Given the description of an element on the screen output the (x, y) to click on. 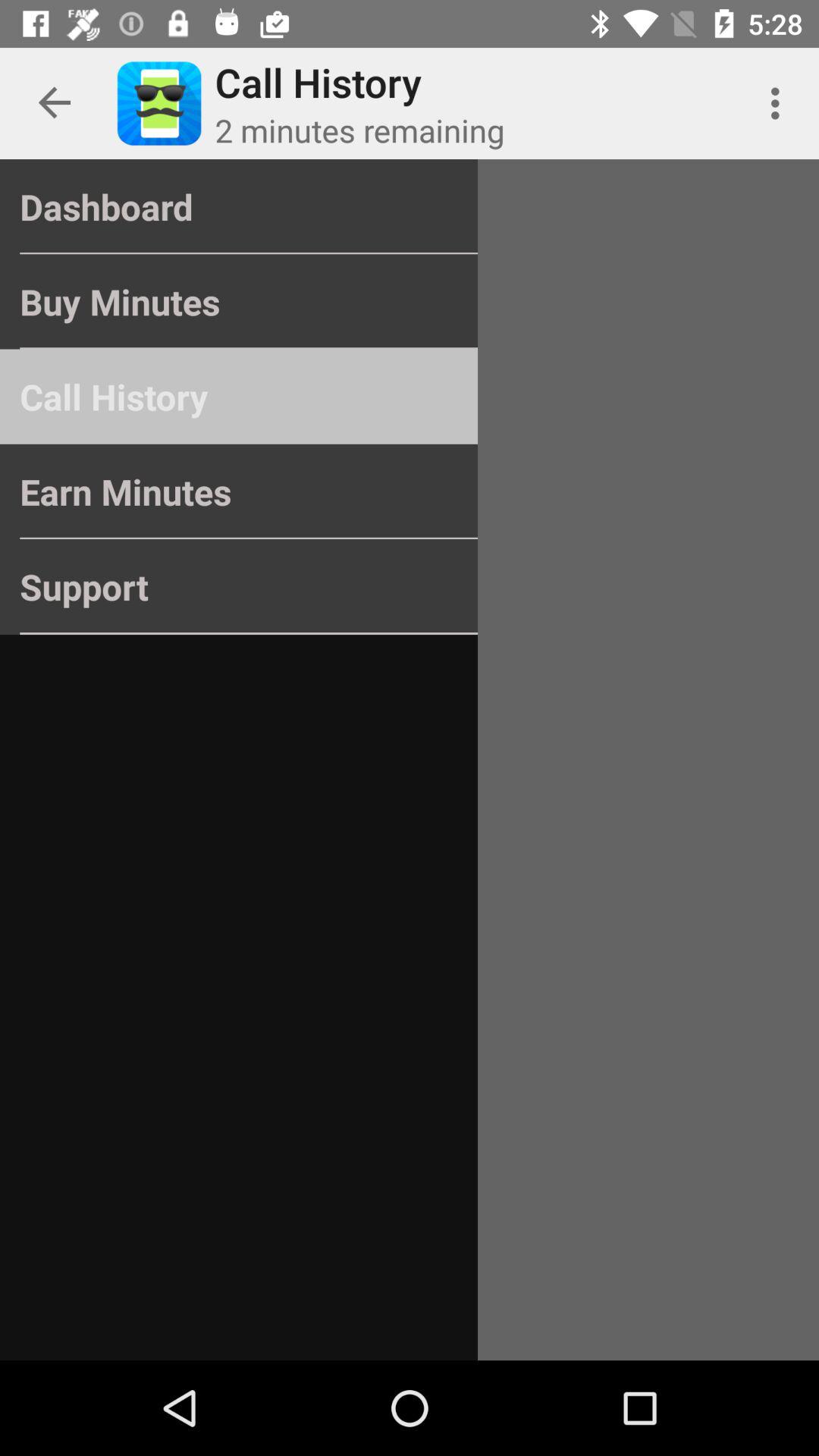
select item above the buy minutes (238, 206)
